Given the description of an element on the screen output the (x, y) to click on. 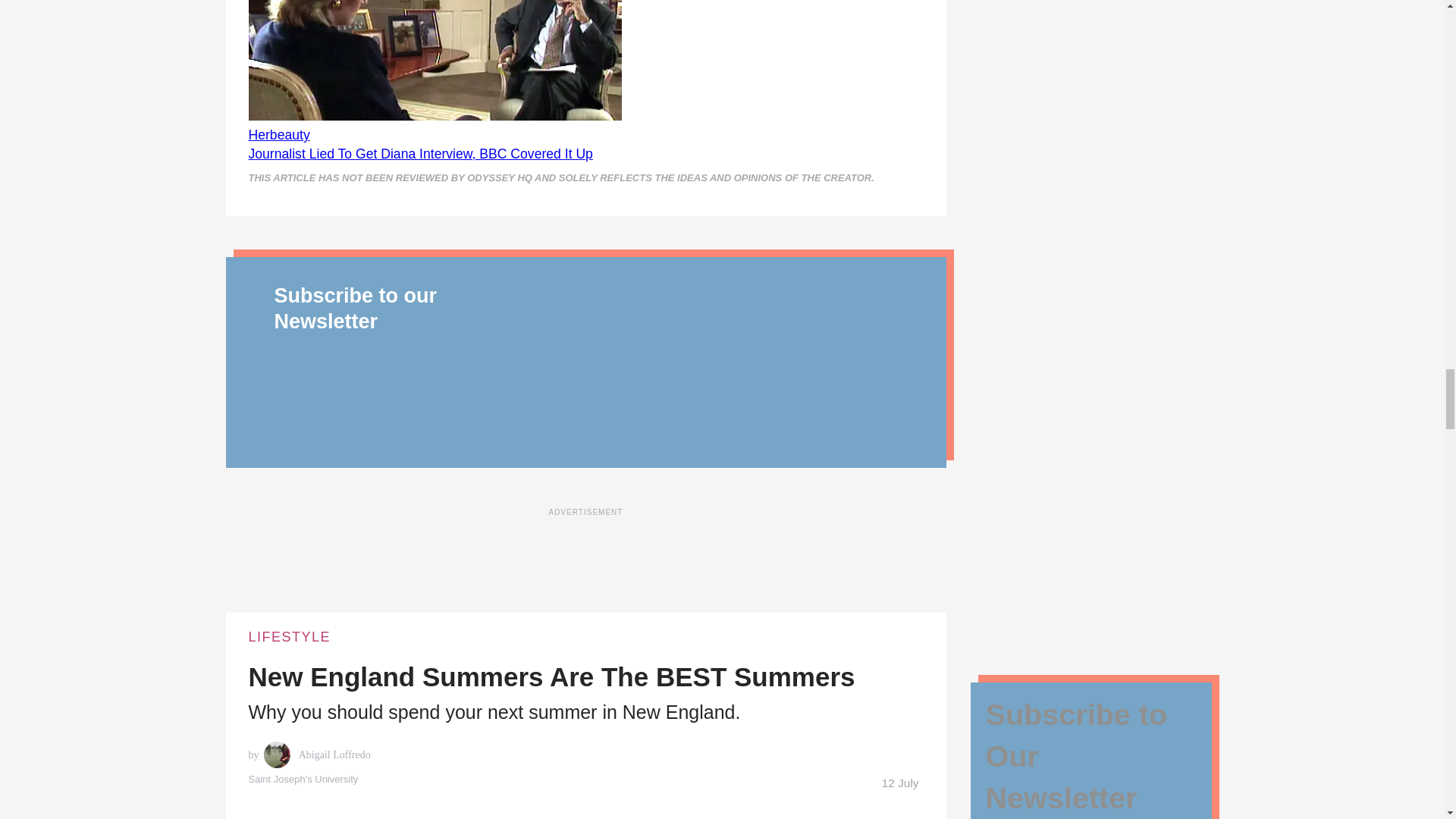
Form 0 (713, 366)
